Given the description of an element on the screen output the (x, y) to click on. 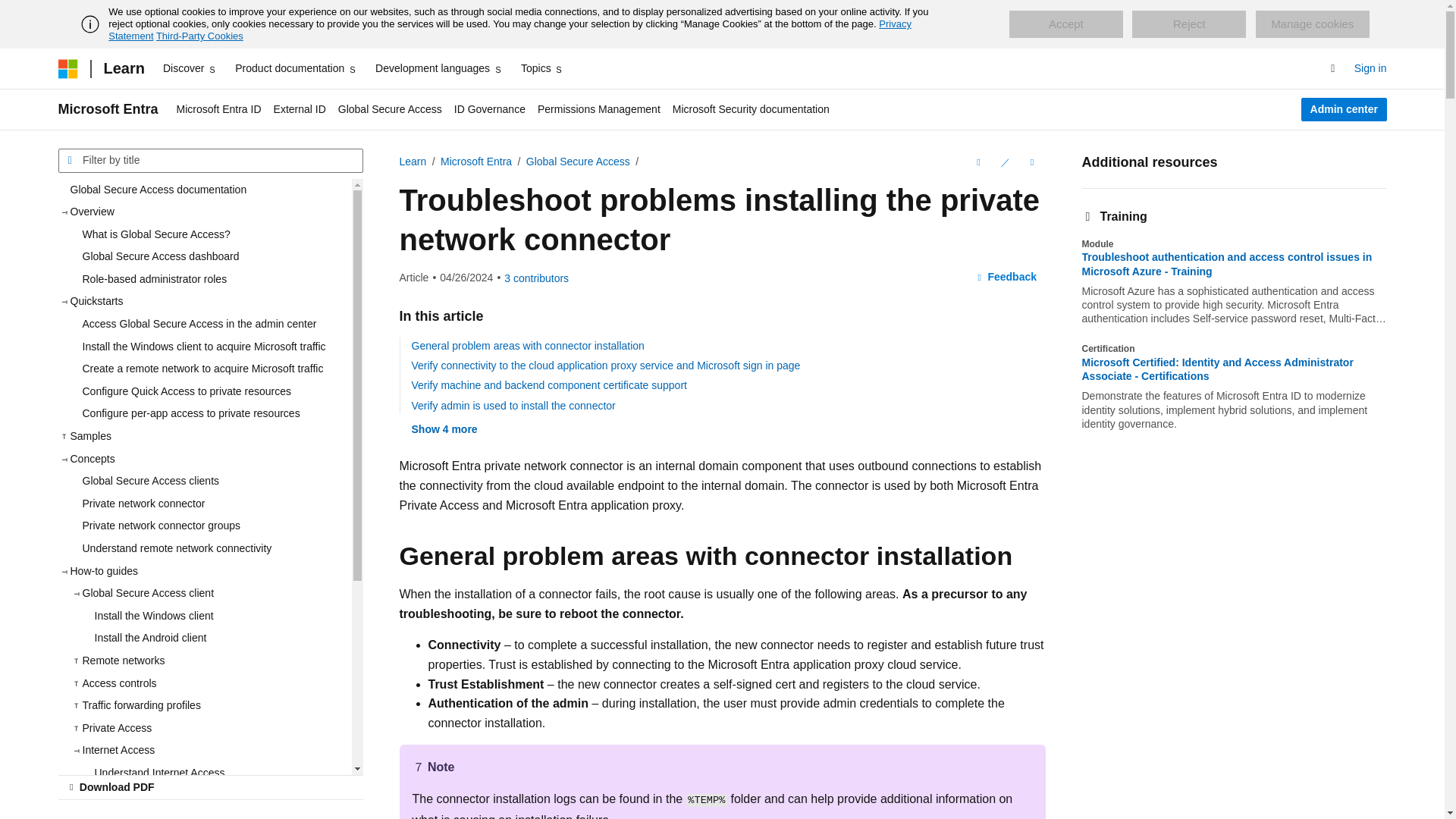
ID Governance (489, 109)
Topics (542, 68)
Manage cookies (1312, 23)
Learn (123, 68)
Skip to main content (11, 11)
Third-Party Cookies (199, 35)
Privacy Statement (509, 29)
Global Secure Access documentation (204, 190)
Access Global Secure Access in the admin center (209, 323)
Discover (189, 68)
